Given the description of an element on the screen output the (x, y) to click on. 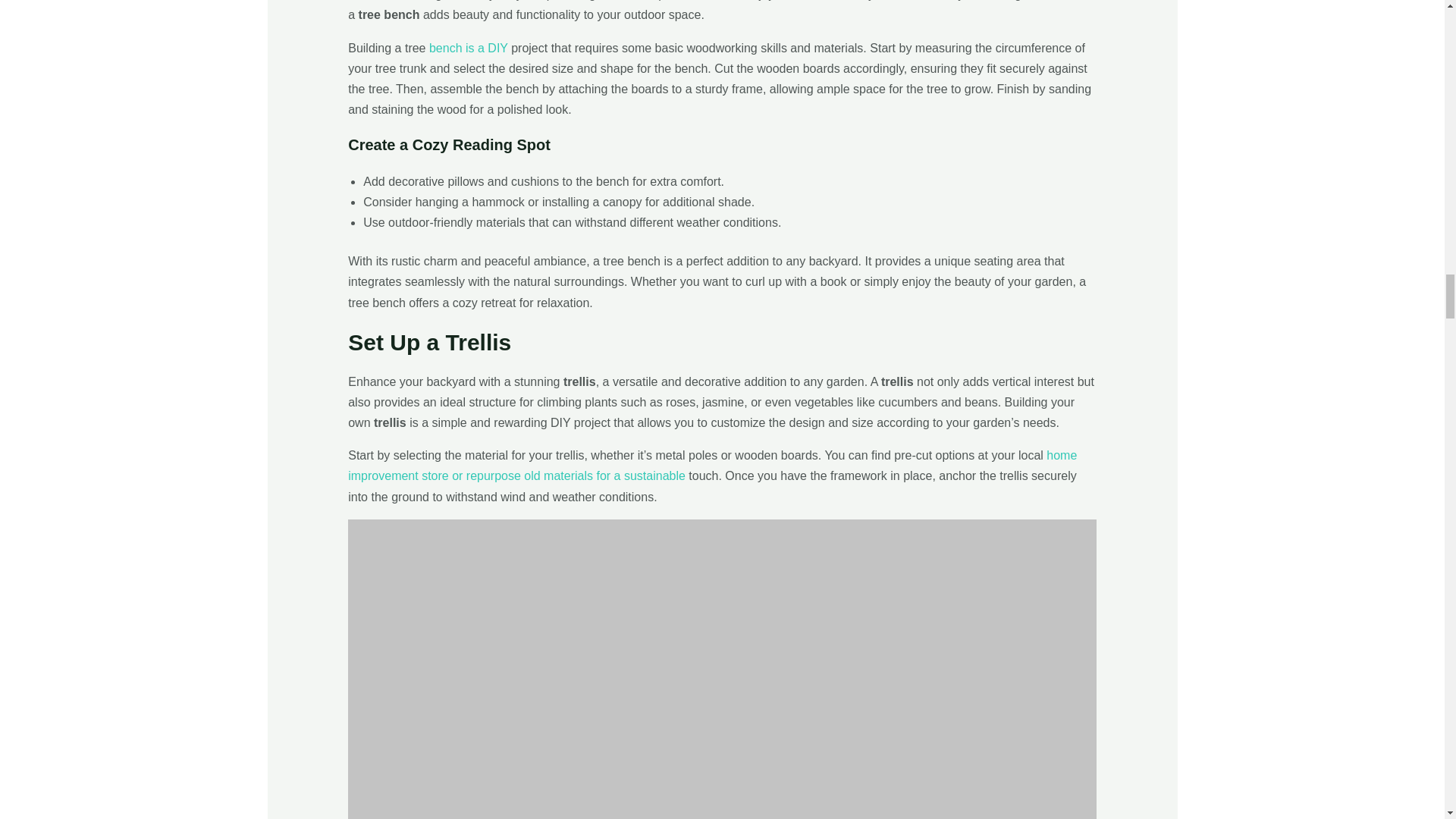
bench is a DIY (468, 47)
